Given the description of an element on the screen output the (x, y) to click on. 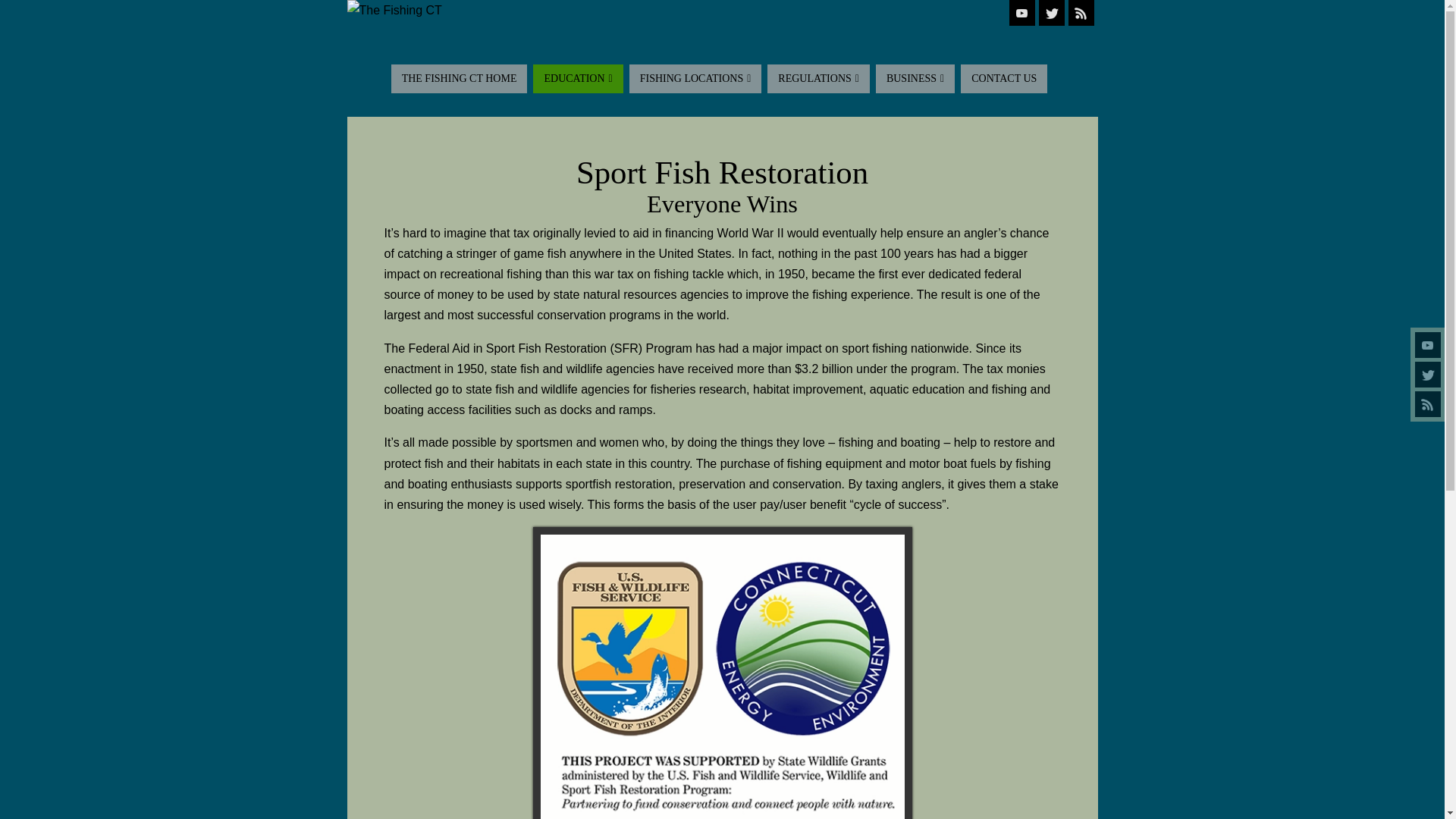
The Fishing CT (722, 10)
YouTube (1021, 12)
RSS (1428, 403)
THE FISHING CT HOME (459, 78)
FISHING LOCATIONS (694, 78)
Twitter (1428, 374)
Twitter (1051, 12)
YouTube (1428, 344)
EDUCATION (577, 78)
RSS (1080, 12)
